Given the description of an element on the screen output the (x, y) to click on. 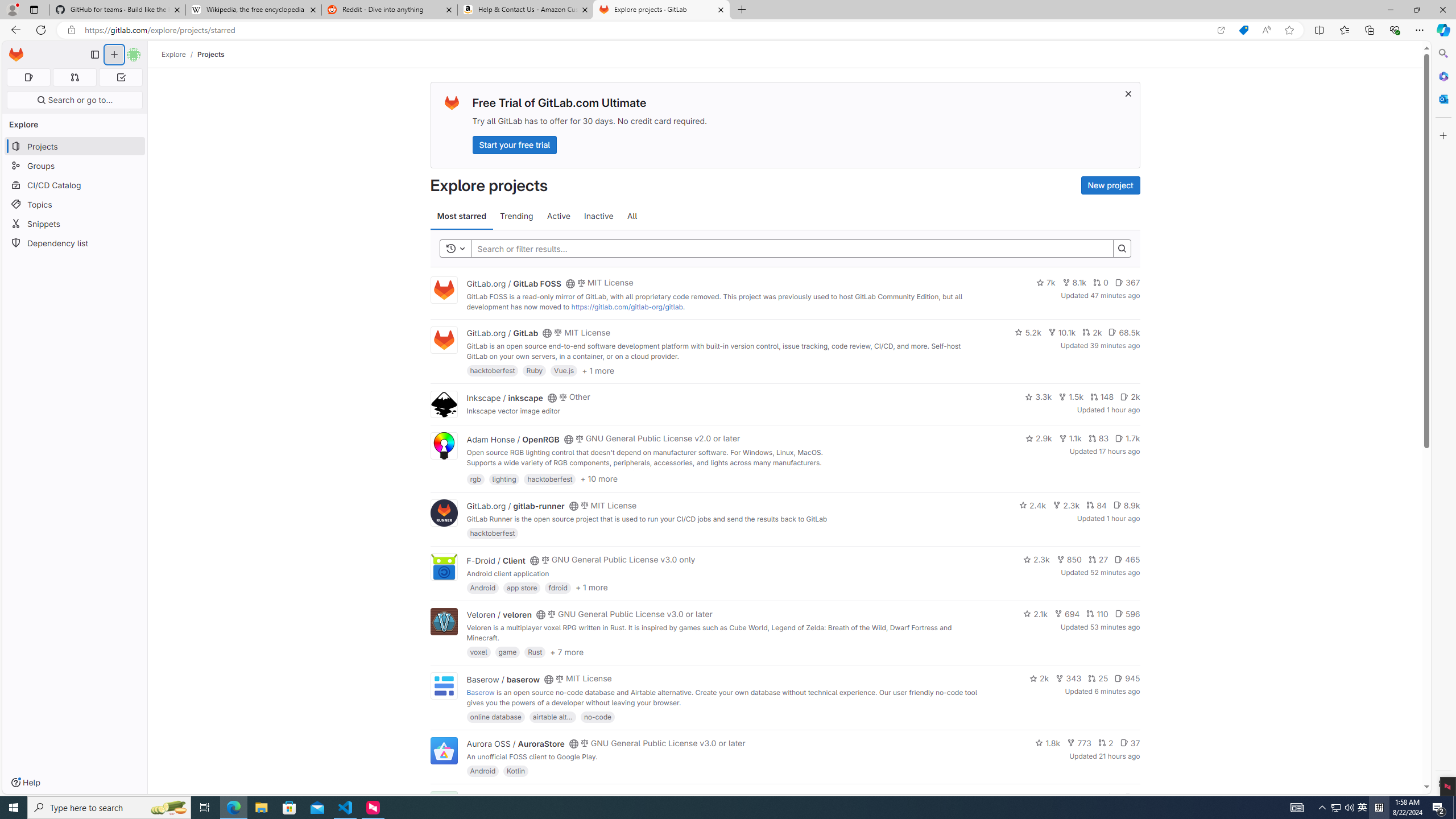
Explore/ (179, 53)
83 (1098, 438)
773 (1079, 742)
27 (1097, 559)
367 (1127, 282)
Class: s14 gl-mr-2 (1128, 796)
GitLab.org / GitLab FOSS (513, 283)
Adam Honse / OpenRGB (512, 438)
Wikipedia, the free encyclopedia (253, 9)
Dismiss trial promotion (1128, 93)
Topics (74, 203)
